Given the description of an element on the screen output the (x, y) to click on. 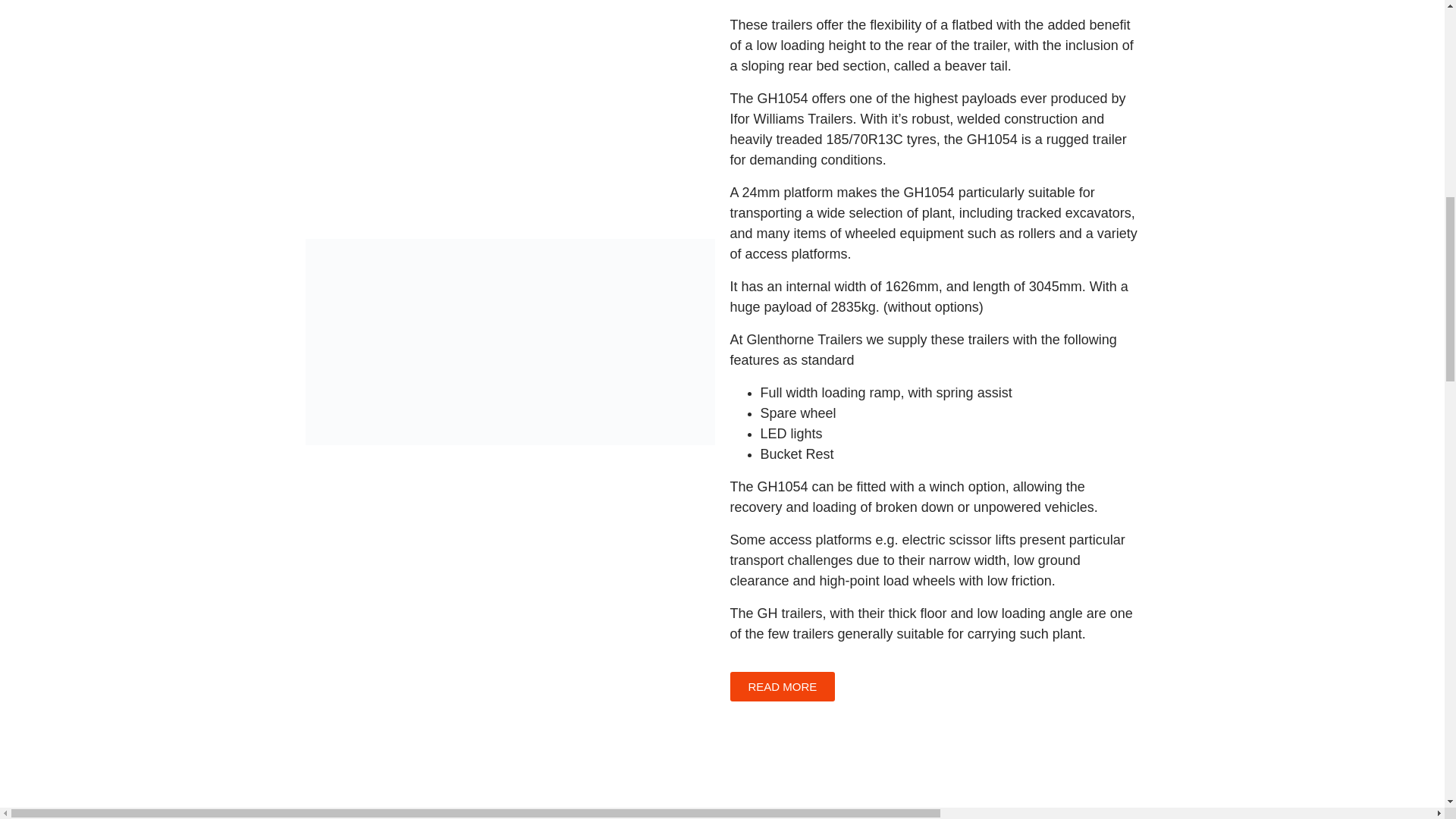
READ MORE (781, 686)
